Given the description of an element on the screen output the (x, y) to click on. 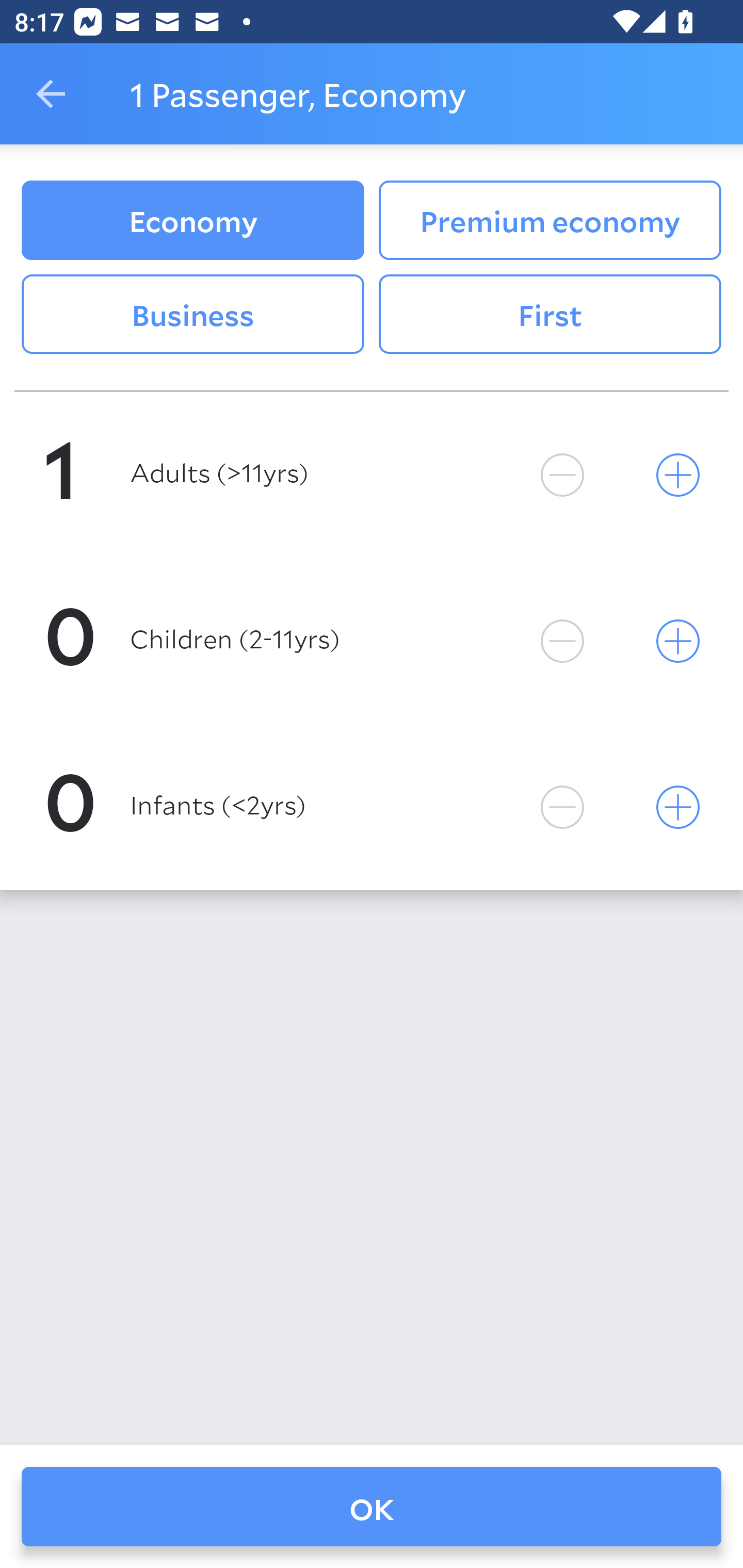
Navigate up (50, 93)
Economy (192, 220)
Premium economy (549, 220)
Business (192, 314)
First (549, 314)
OK (371, 1506)
